Given the description of an element on the screen output the (x, y) to click on. 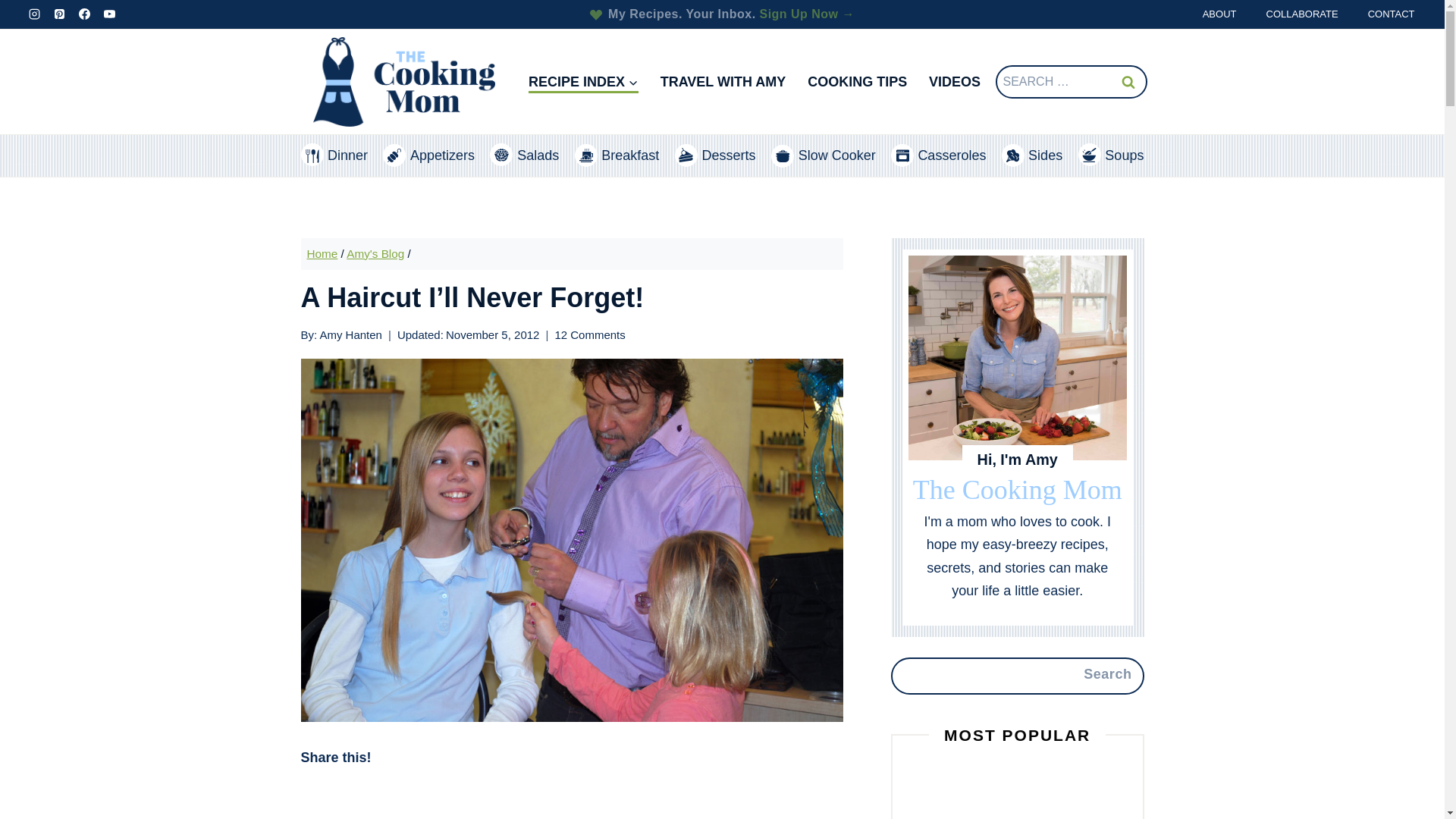
Slow Cooker (823, 155)
Casseroles (938, 155)
12 Comments (589, 334)
Desserts (715, 155)
Appetizers (428, 155)
Dinner (332, 155)
Search (1127, 81)
Sides (1031, 155)
CONTACT (1390, 14)
Search (1127, 81)
TRAVEL WITH AMY (722, 81)
Breakfast (617, 155)
COLLABORATE (1301, 14)
ABOUT (1219, 14)
Soups (1111, 155)
